Given the description of an element on the screen output the (x, y) to click on. 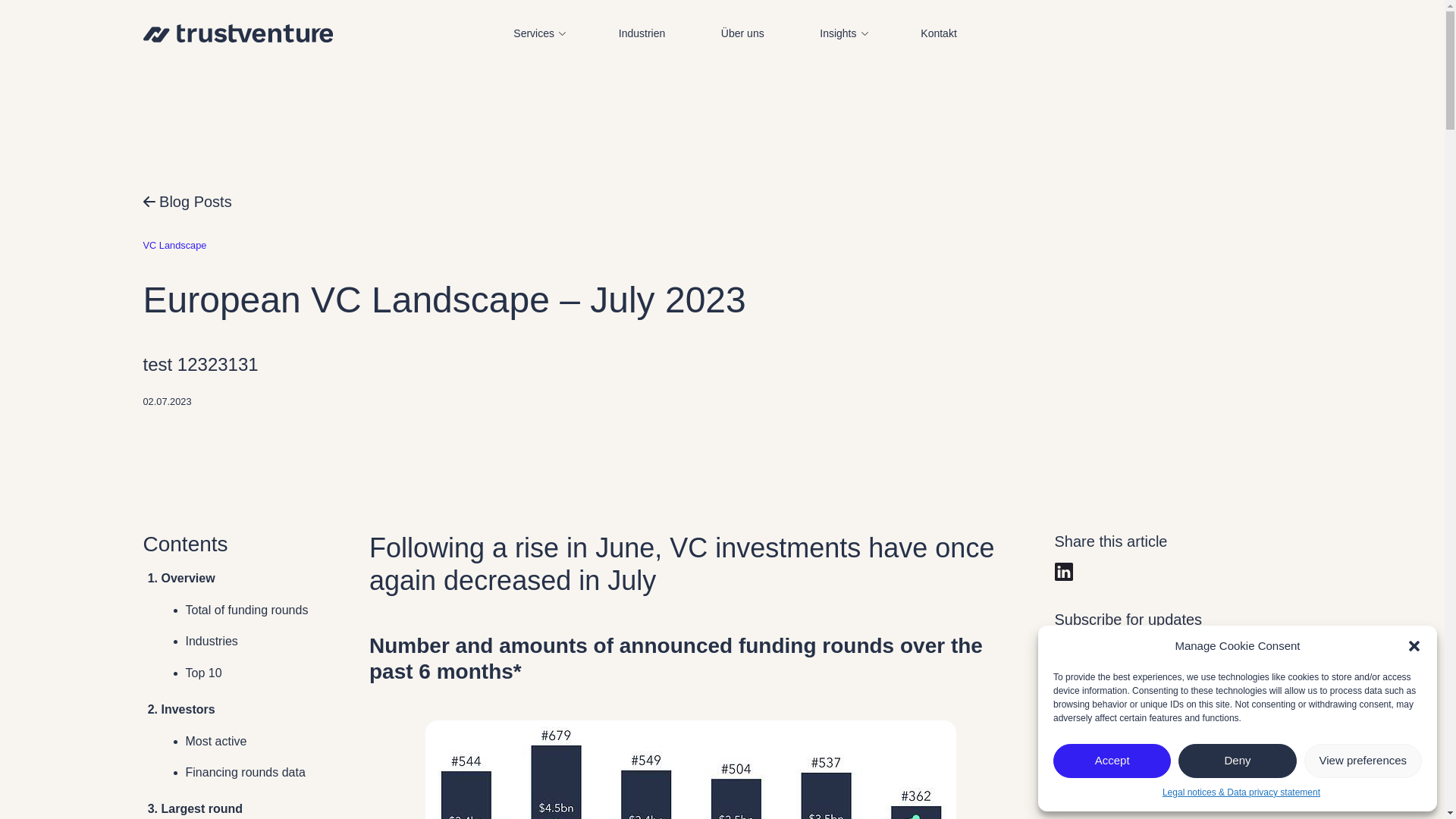
Total of funding rounds (245, 609)
View preferences (1363, 760)
Kontakt (939, 33)
Industries (210, 640)
Insights (842, 33)
VC Landscape (174, 244)
Industrien (642, 33)
Blog Posts (186, 201)
Accept (1111, 760)
Services (536, 33)
